Given the description of an element on the screen output the (x, y) to click on. 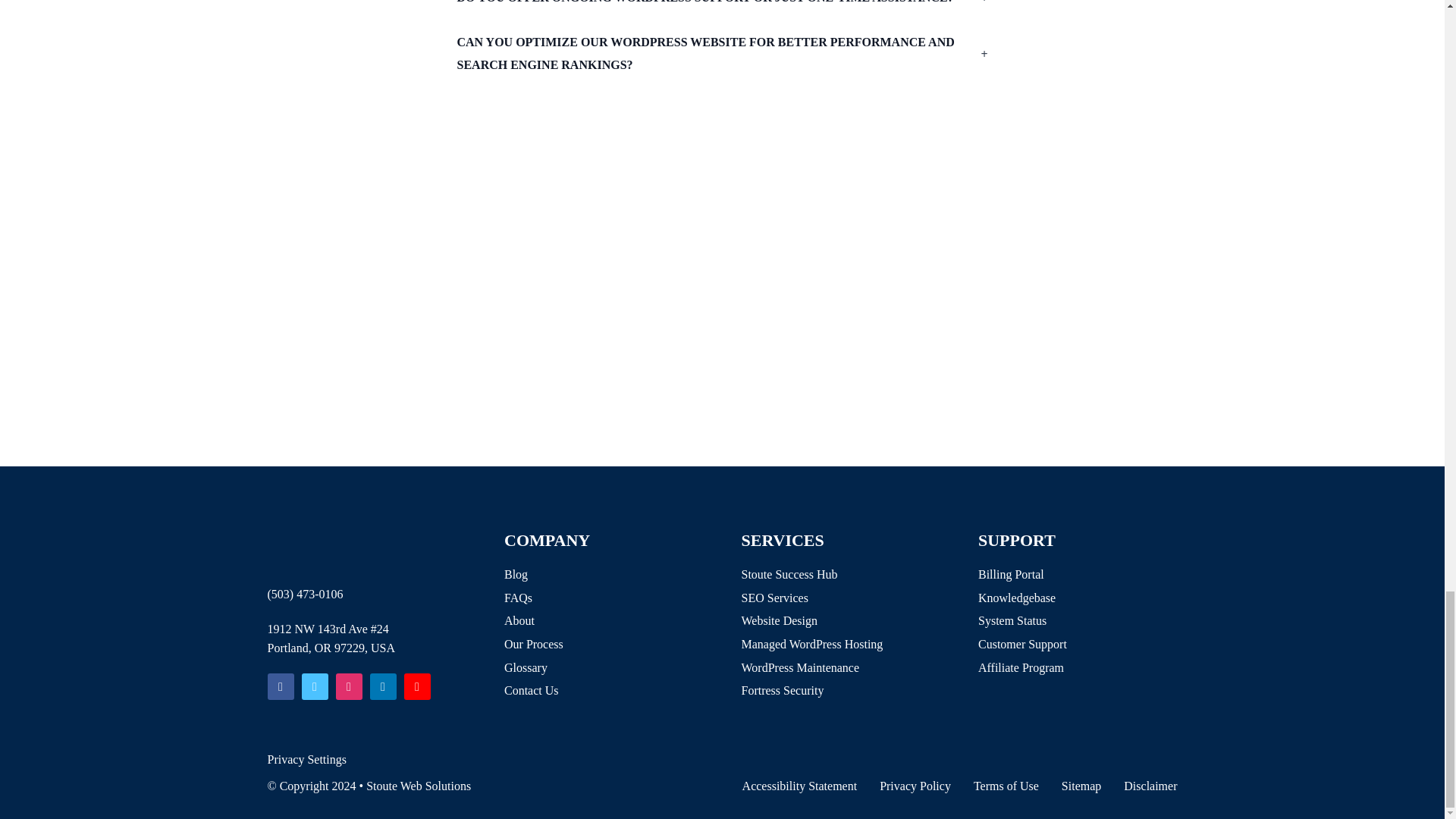
Our Process (533, 644)
Glossary (533, 668)
About (533, 620)
Contact Us (533, 690)
Blog (533, 574)
FAQs (533, 598)
Stoute Success Hub (812, 574)
